Given the description of an element on the screen output the (x, y) to click on. 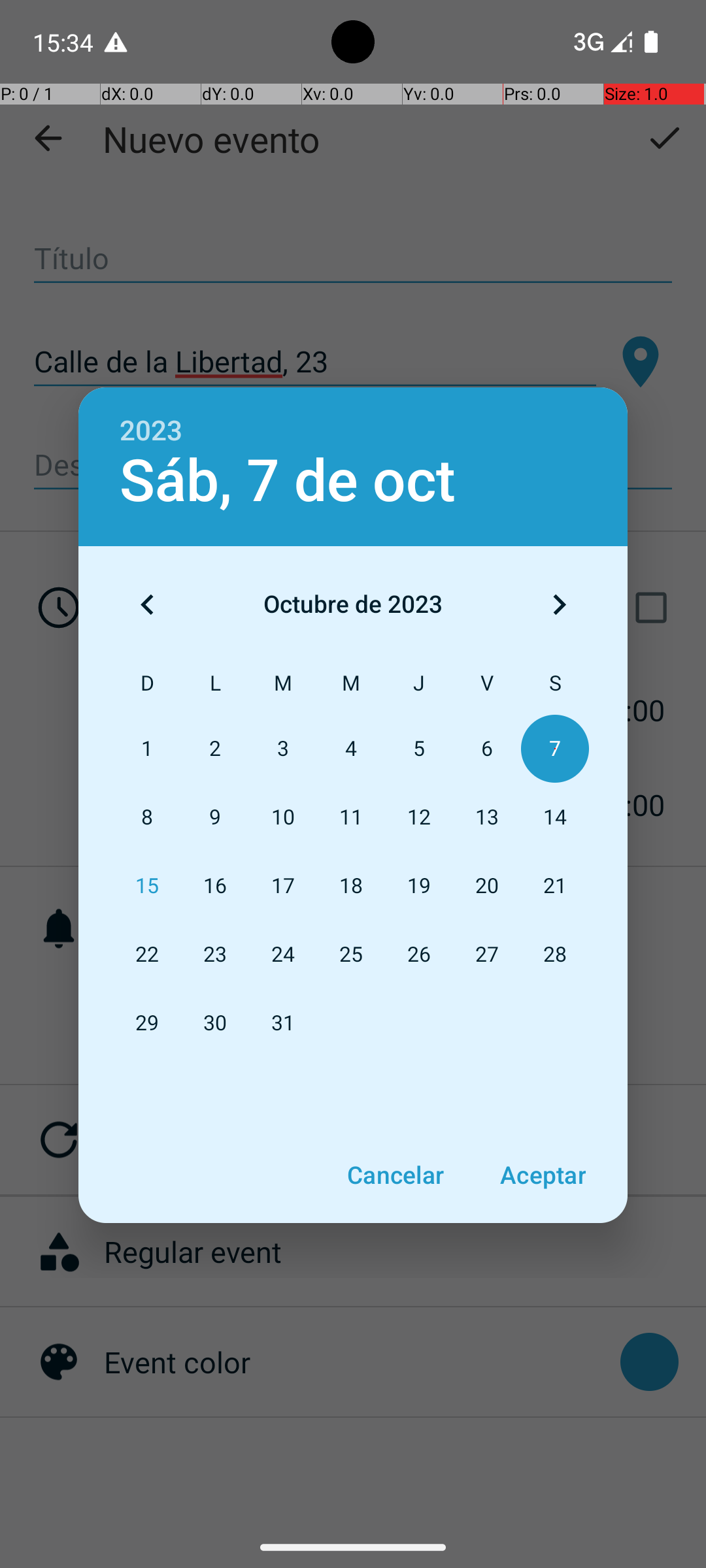
Sáb, 7 de oct Element type: android.widget.TextView (287, 480)
Mes anterior Element type: android.widget.ImageButton (146, 604)
Mes siguiente Element type: android.widget.ImageButton (558, 604)
Cancelar Element type: android.widget.Button (394, 1174)
